Given the description of an element on the screen output the (x, y) to click on. 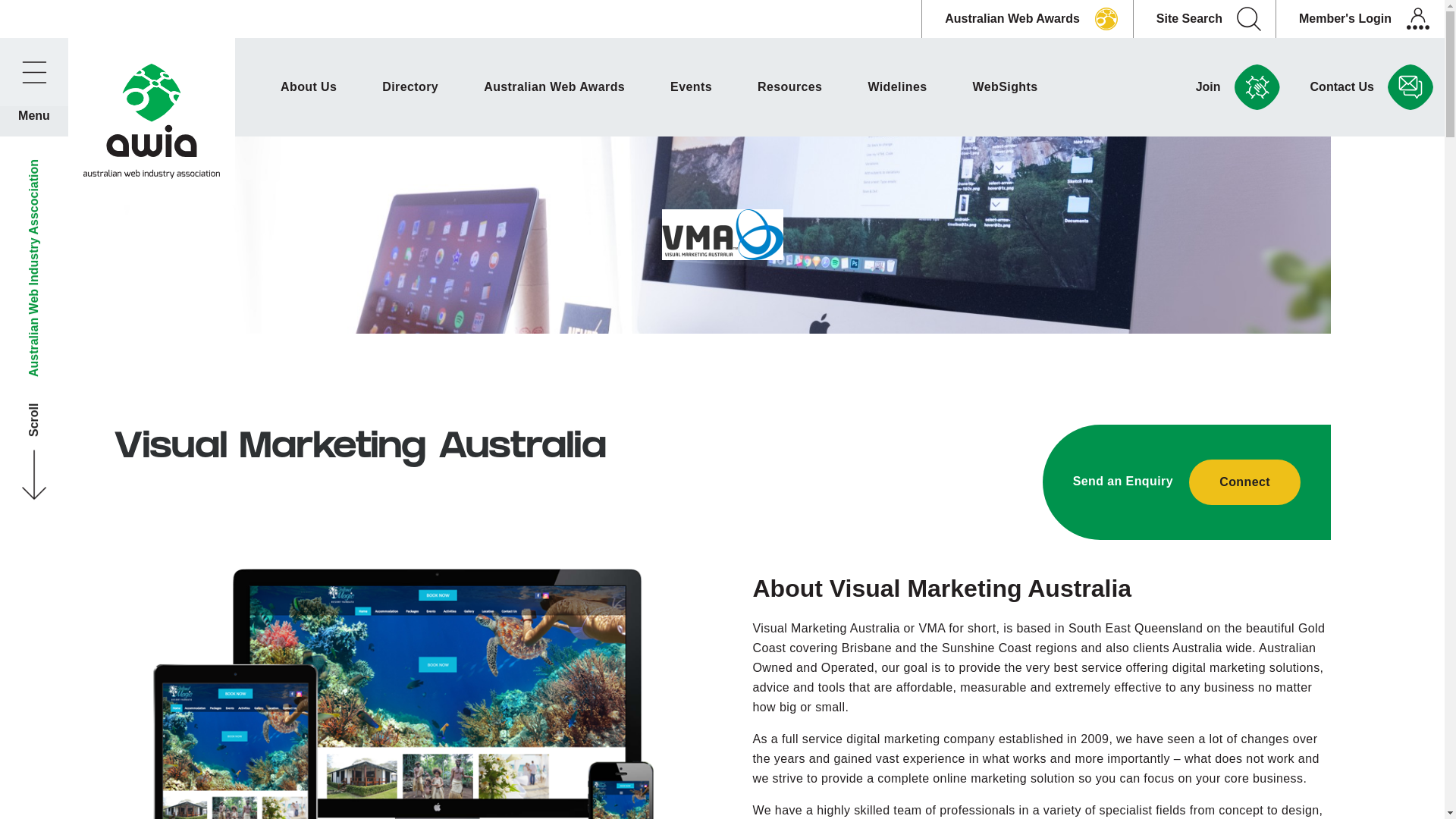
Directory Element type: text (410, 86)
Australian Web Awards Element type: text (1026, 18)
Connect Element type: text (1244, 482)
About Us Element type: text (308, 86)
Contact Us Element type: text (1367, 86)
Events Element type: text (690, 86)
Resources Element type: text (789, 86)
WebSights Element type: text (1005, 86)
Site Search Element type: text (1203, 18)
Scroll Australian Web Industry Asscociation Element type: text (187, 181)
Member's Login Element type: text (1359, 18)
Menu Element type: text (34, 71)
Australian Web Awards Element type: text (554, 86)
Widelines Element type: text (896, 86)
Join Element type: text (1234, 86)
